Given the description of an element on the screen output the (x, y) to click on. 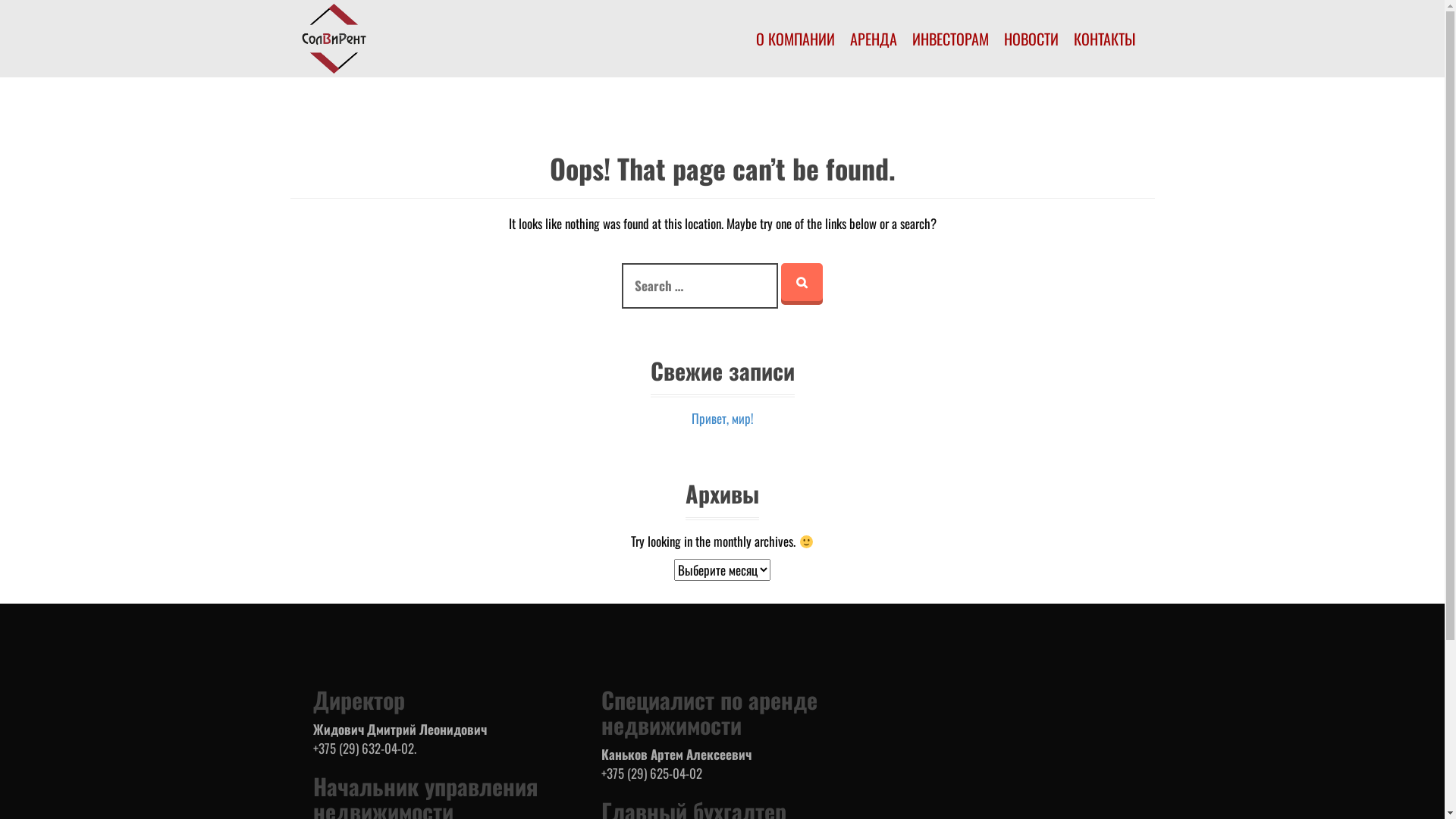
Skip to content Element type: text (0, 0)
Search for: Element type: hover (699, 285)
